Given the description of an element on the screen output the (x, y) to click on. 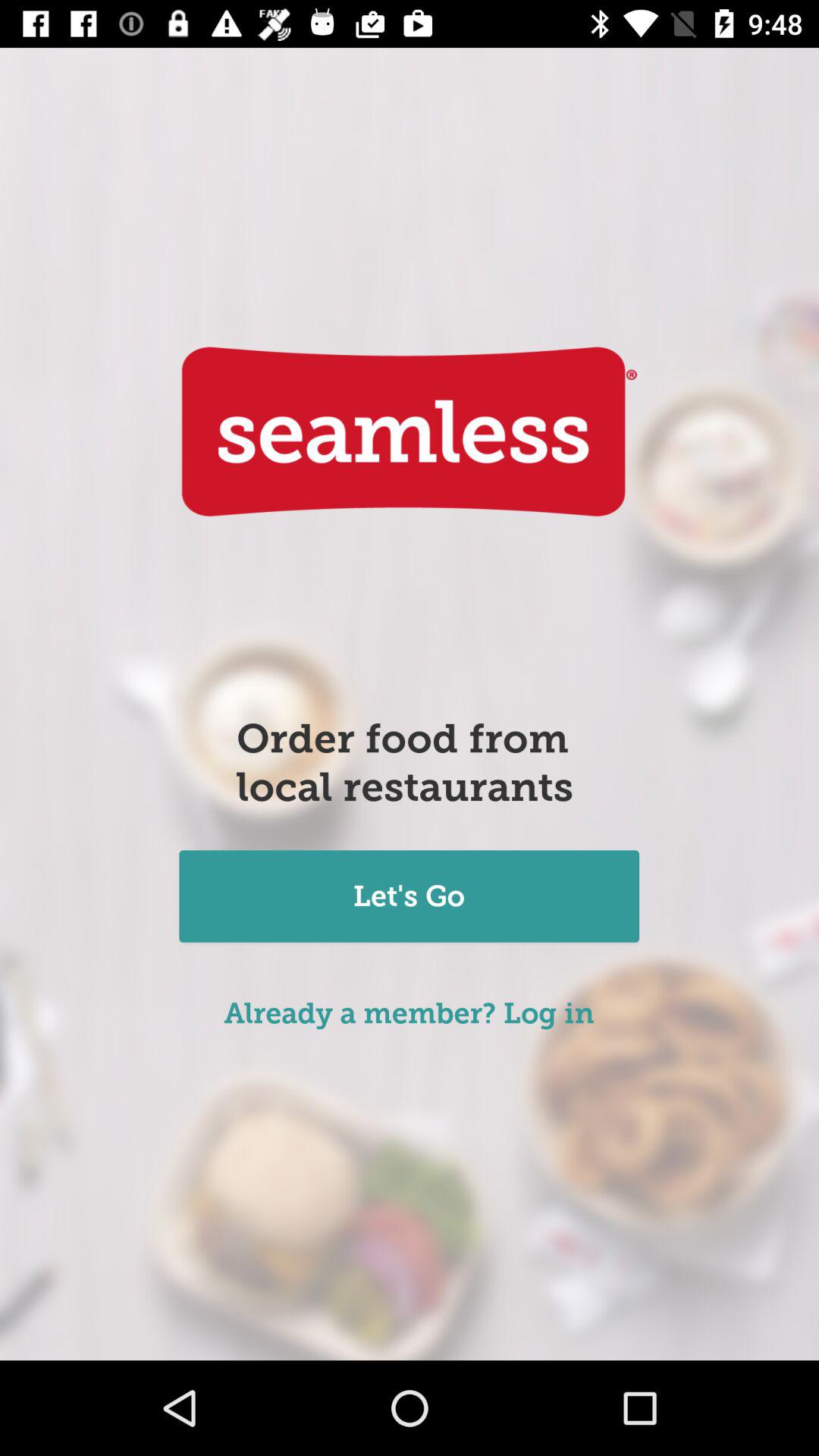
swipe to already a member item (409, 1013)
